Given the description of an element on the screen output the (x, y) to click on. 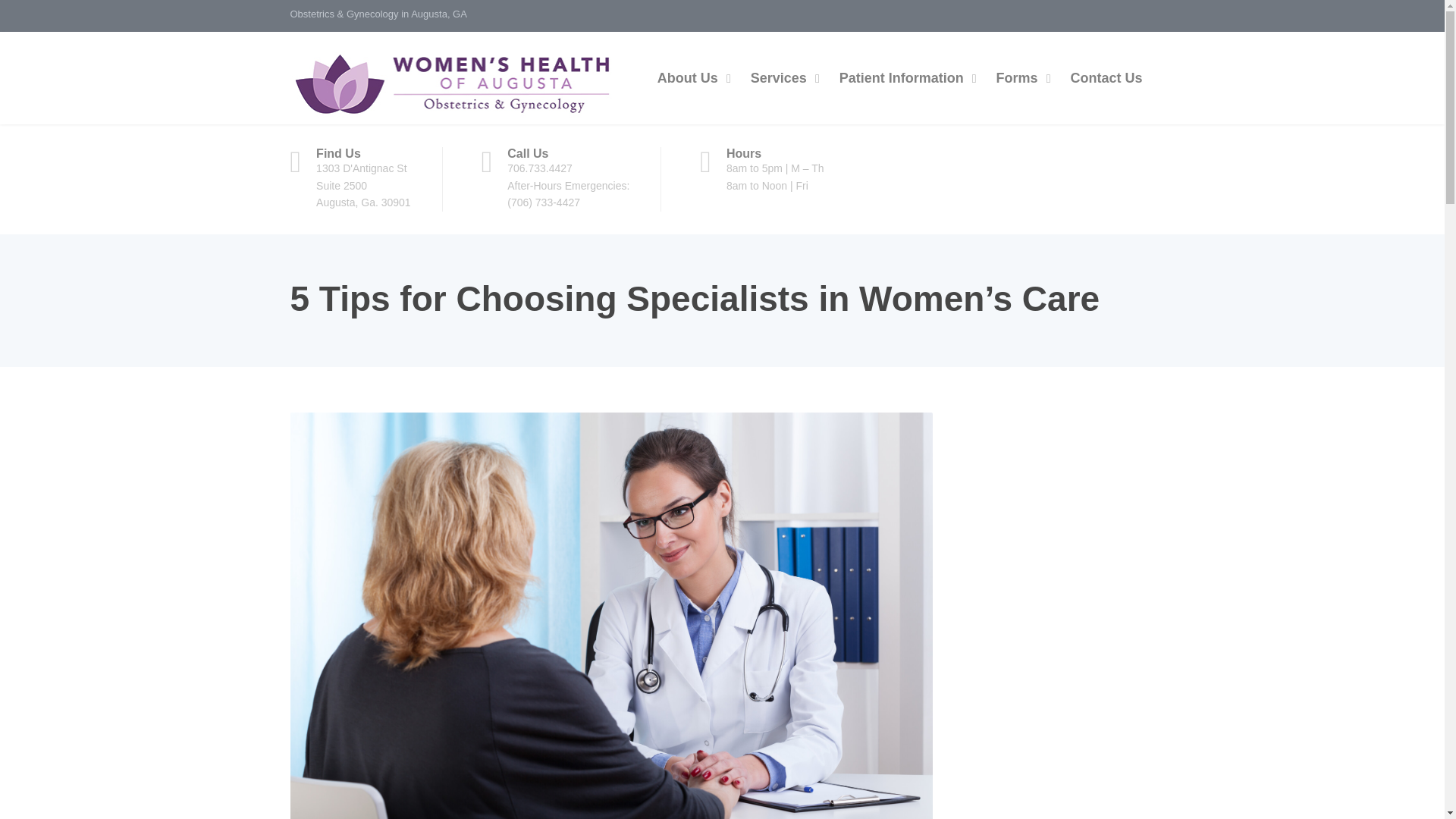
Patient Information (904, 77)
Contact Us (1106, 77)
Services (781, 77)
About Us (690, 77)
